Given the description of an element on the screen output the (x, y) to click on. 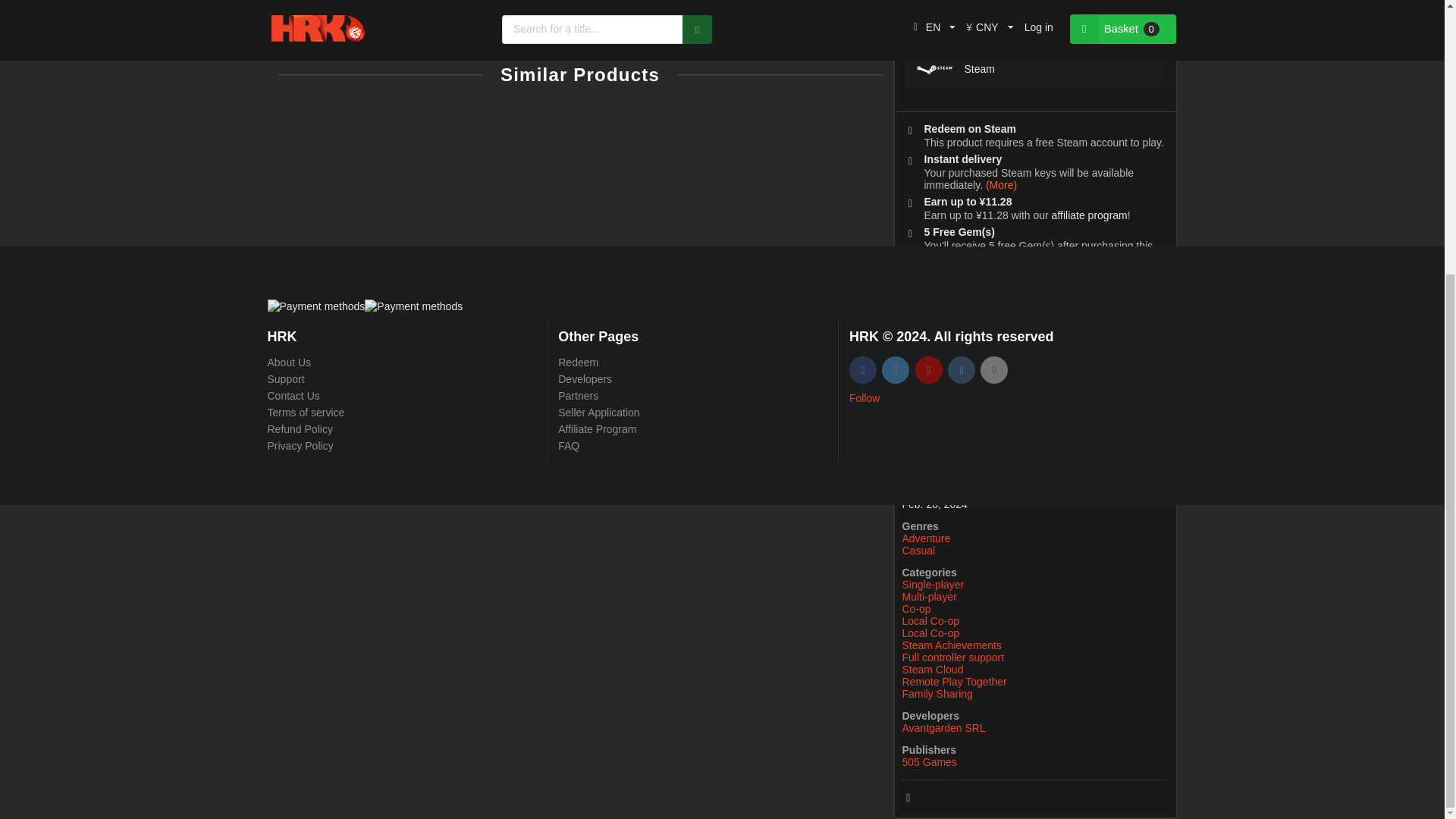
Brothers: A Tale of Two Sons Remake on Steam PC (934, 69)
